Given the description of an element on the screen output the (x, y) to click on. 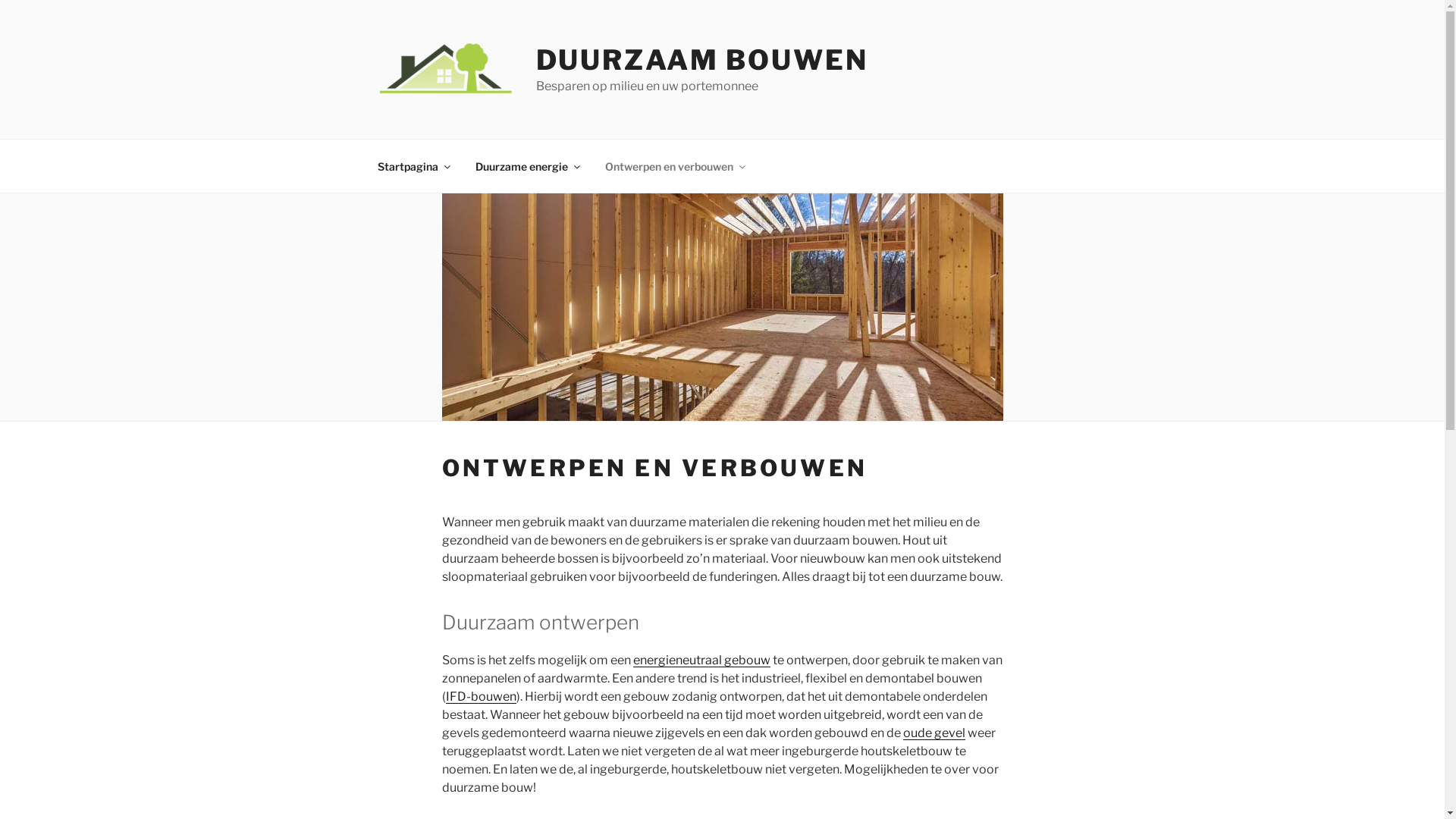
DUURZAAM BOUWEN Element type: text (702, 59)
Ontwerpen en verbouwen Element type: text (673, 165)
Duurzame energie Element type: text (527, 165)
IFD-bouwen Element type: text (480, 696)
oude gevel Element type: text (933, 732)
energieneutraal gebouw Element type: text (700, 659)
Startpagina Element type: text (412, 165)
